Given the description of an element on the screen output the (x, y) to click on. 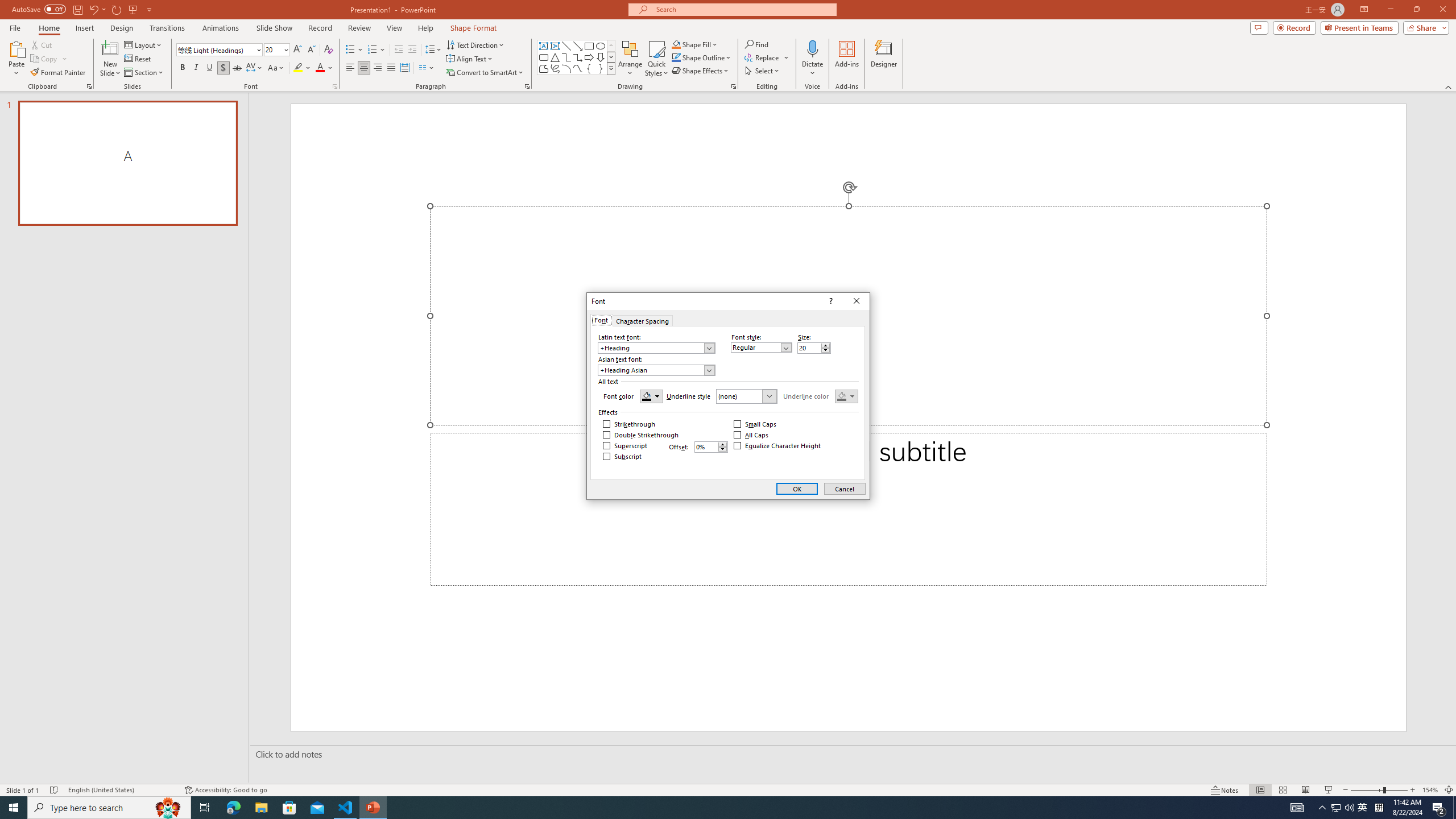
Latin text font (656, 347)
Size (814, 347)
Font style (761, 347)
